Given the description of an element on the screen output the (x, y) to click on. 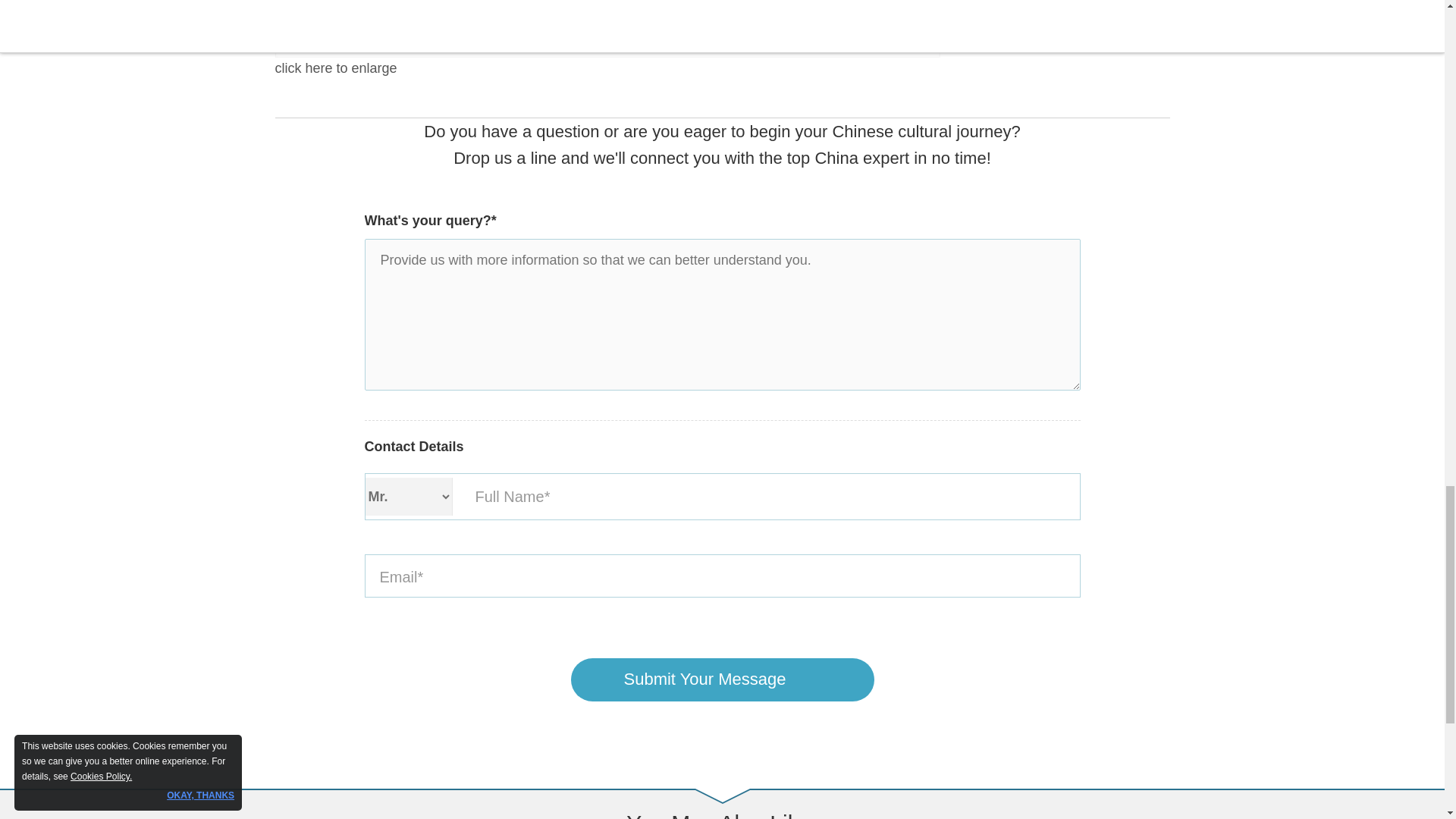
Submit Your Message (721, 679)
click here to enlarge (607, 38)
Submit Your Message (721, 679)
